Given the description of an element on the screen output the (x, y) to click on. 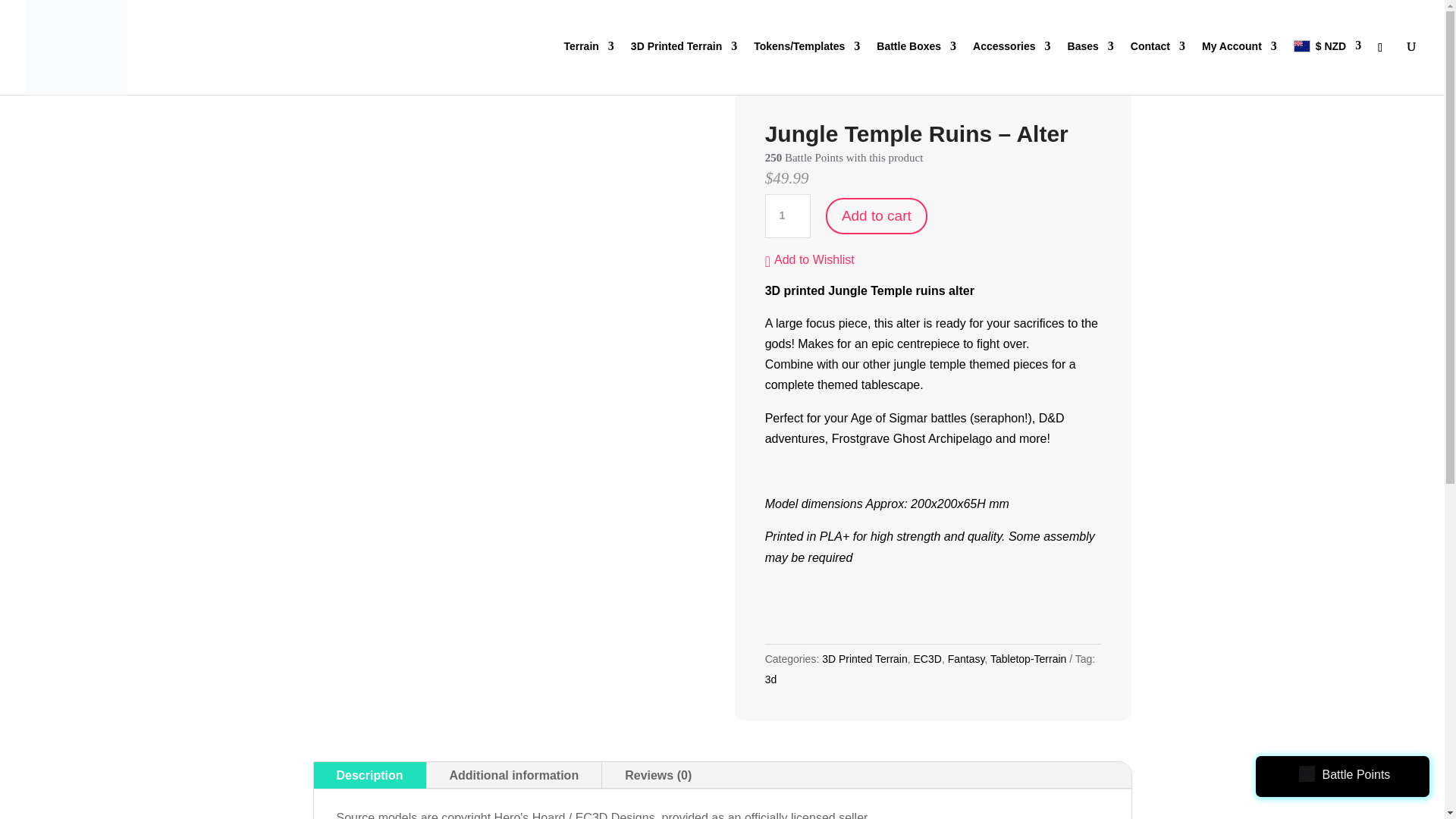
1 (787, 216)
3D Printed Terrain (683, 65)
Terrain (587, 65)
